Given the description of an element on the screen output the (x, y) to click on. 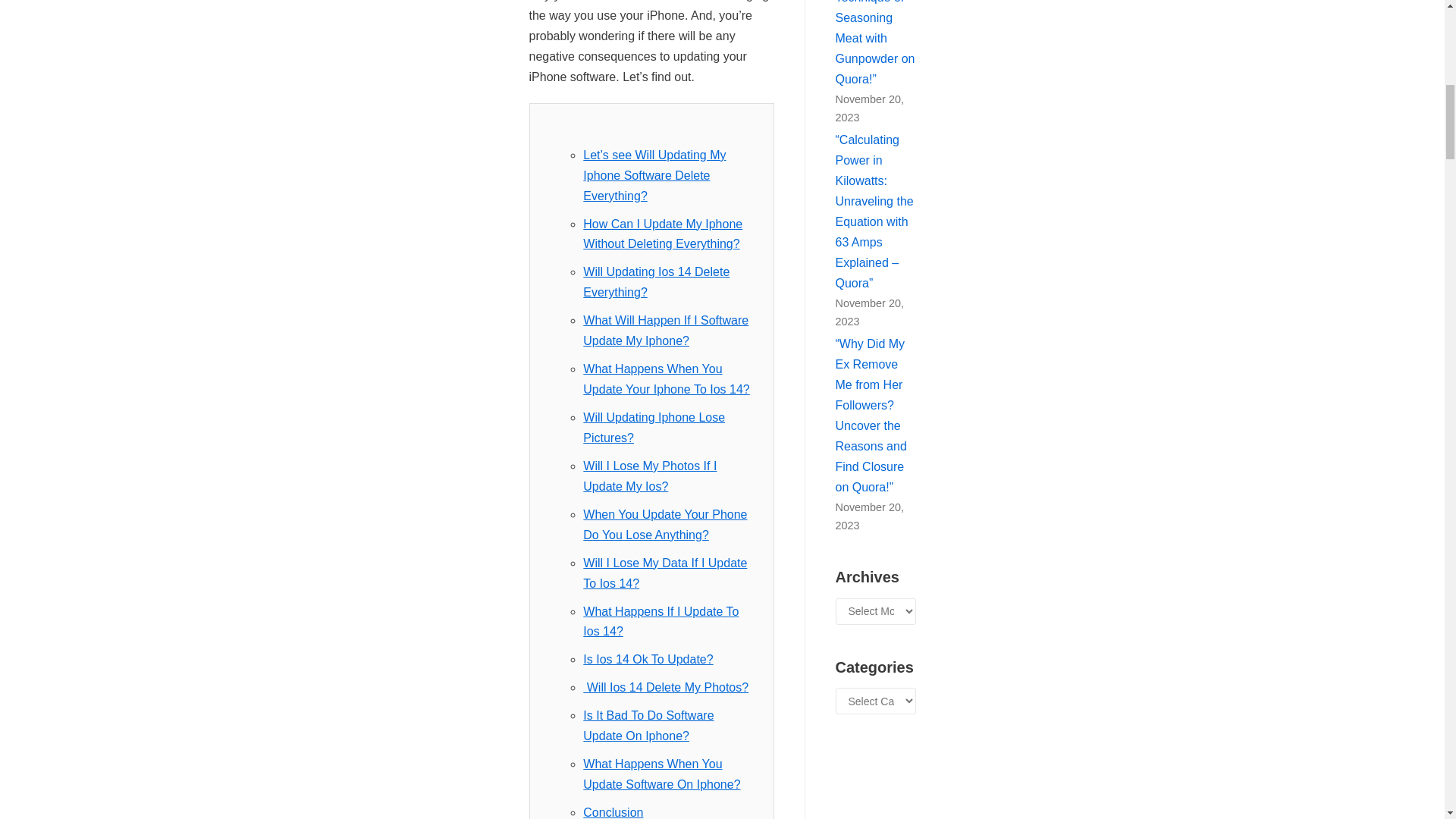
When You Update Your Phone Do You Lose Anything? (664, 524)
What Happens If I Update To Ios 14? (660, 621)
Will I Lose My Photos If I Update My Ios? (649, 476)
Will Updating Iphone Lose Pictures? (654, 427)
Will I Lose My Data If I Update To Ios 14? (664, 572)
Will Updating Ios 14 Delete Everything? (656, 281)
Is It Bad To Do Software Update On Iphone? (648, 725)
What Will Happen If I Software Update My Iphone? (665, 330)
 Will Ios 14 Delete My Photos? (665, 686)
What Happens When You Update Software On Iphone? (661, 774)
How Can I Update My Iphone Without Deleting Everything? (662, 233)
Is Ios 14 Ok To Update? (648, 658)
Conclusion (613, 812)
What Happens When You Update Your Iphone To Ios 14? (666, 378)
